Given the description of an element on the screen output the (x, y) to click on. 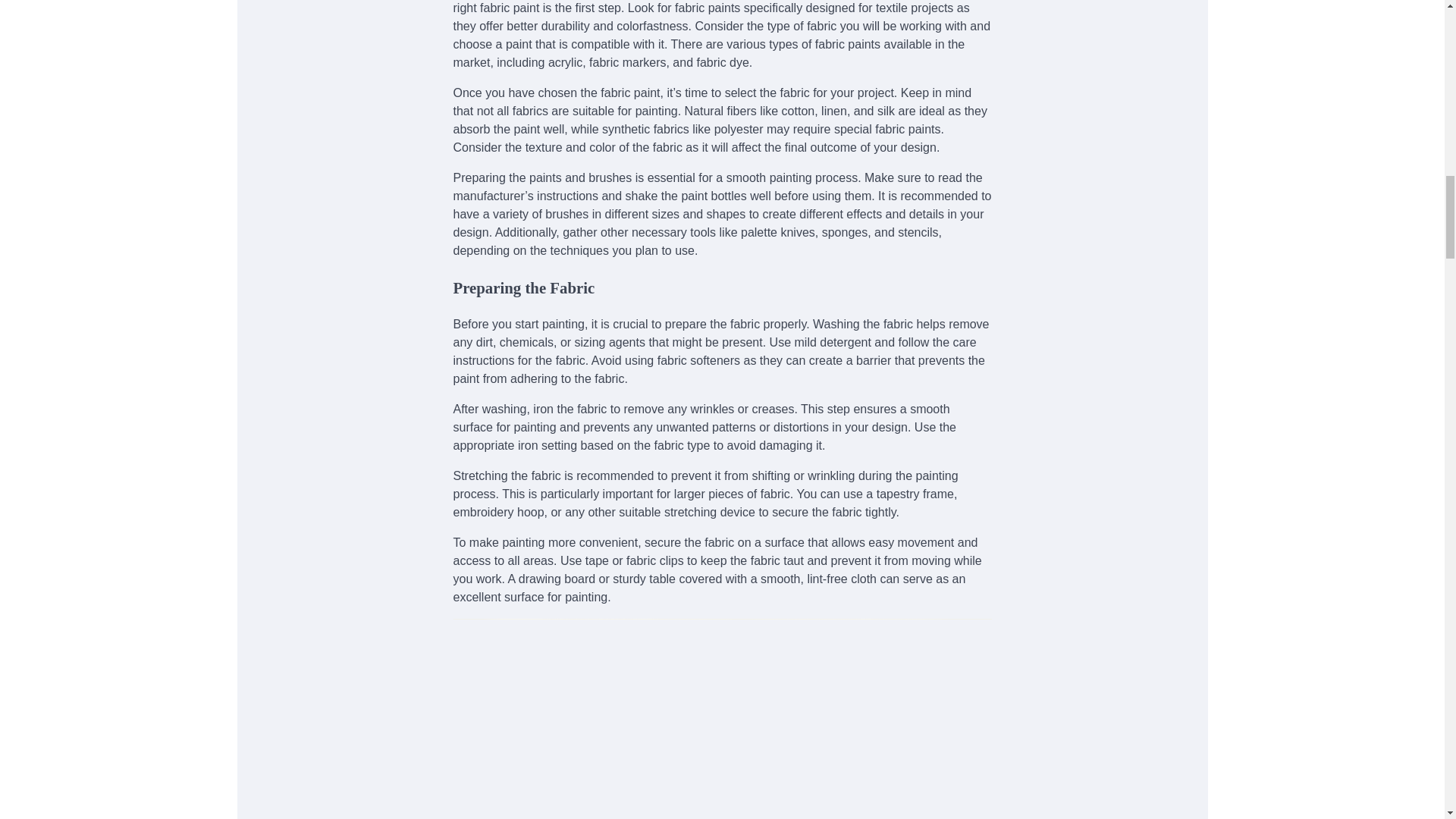
How To Use Fabric Paint (721, 719)
